Given the description of an element on the screen output the (x, y) to click on. 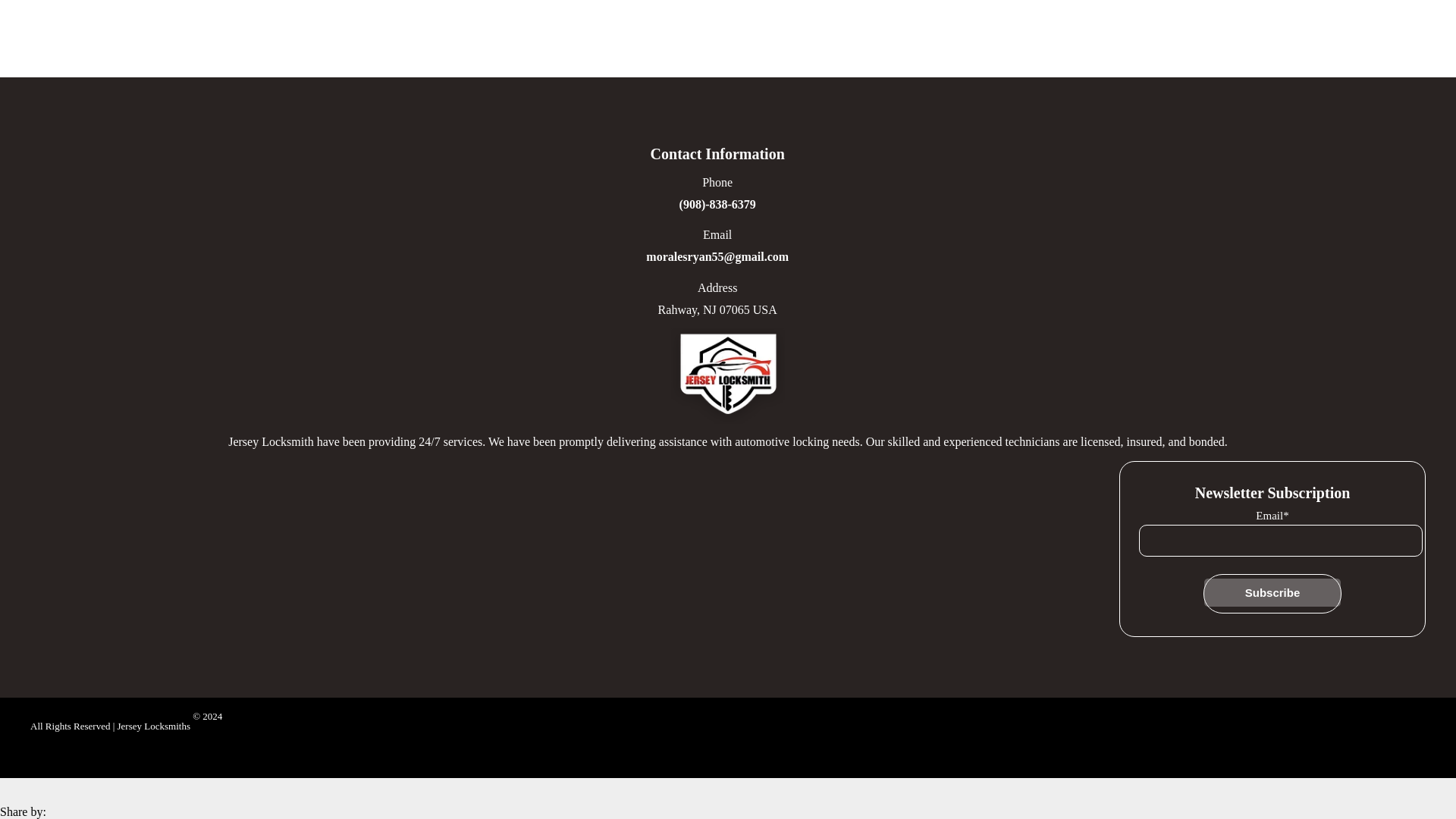
Subscribe (1272, 592)
